Given the description of an element on the screen output the (x, y) to click on. 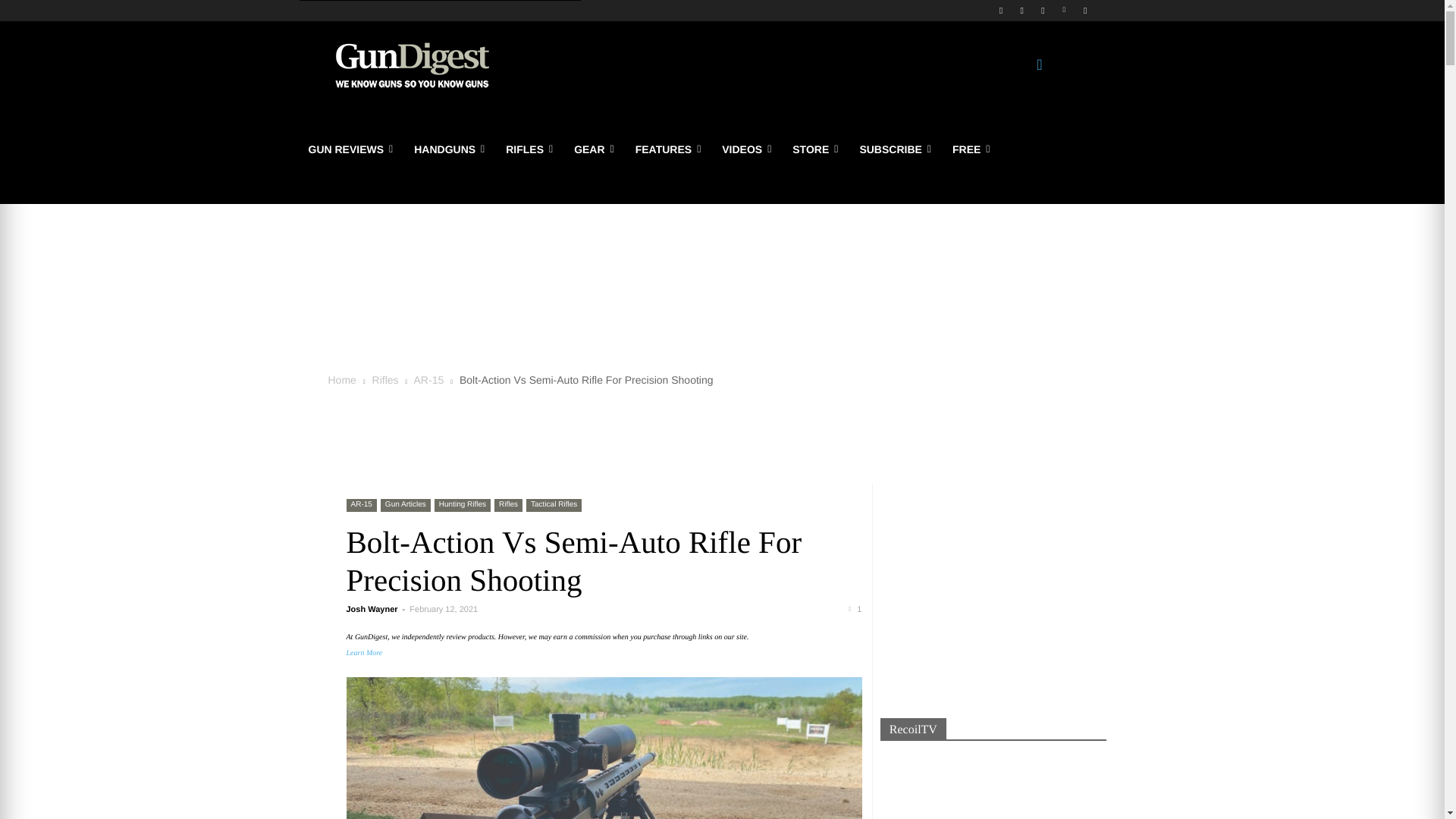
3rd party ad content (721, 279)
Vimeo (1064, 9)
Youtube (1085, 9)
We know guns so you know guns (411, 64)
Twitter (1042, 9)
Instagram (1021, 9)
Facebook (1000, 9)
We know guns so you know guns (411, 64)
